Given the description of an element on the screen output the (x, y) to click on. 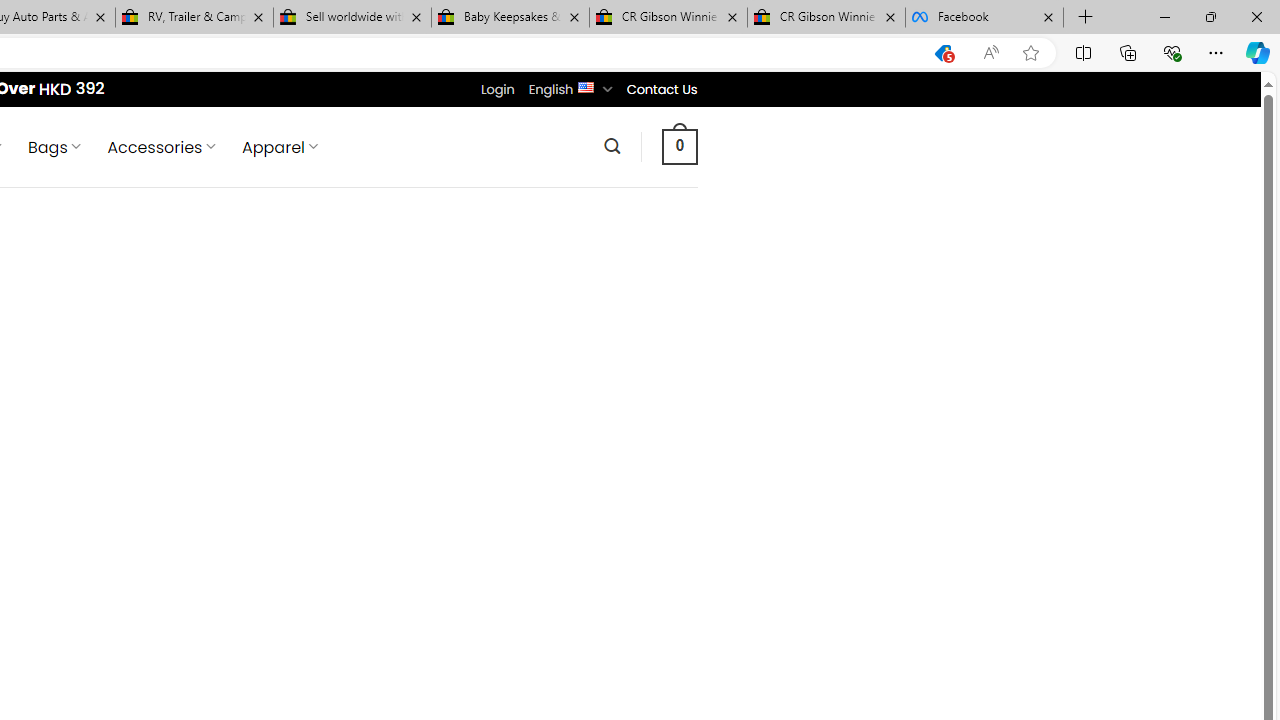
English (586, 86)
